Given the description of an element on the screen output the (x, y) to click on. 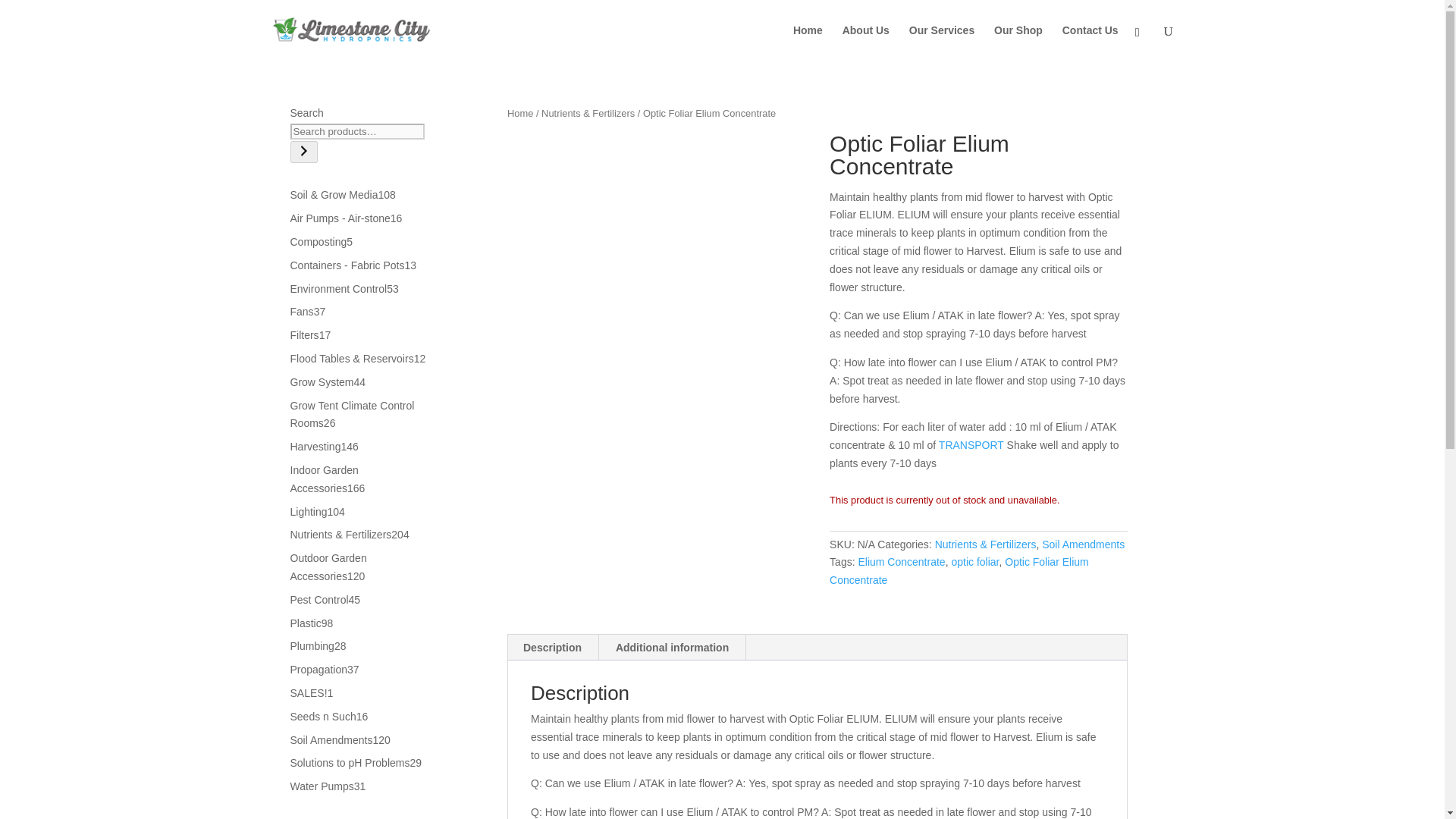
Our Services (941, 42)
Filters (303, 335)
Plastic (304, 623)
Optic Foliar Elium Concentrate (959, 571)
Grow System (321, 381)
Fans (301, 311)
Contact Us (1090, 42)
TRANSPORT (971, 444)
Transport (971, 444)
optic foliar (974, 562)
